Given the description of an element on the screen output the (x, y) to click on. 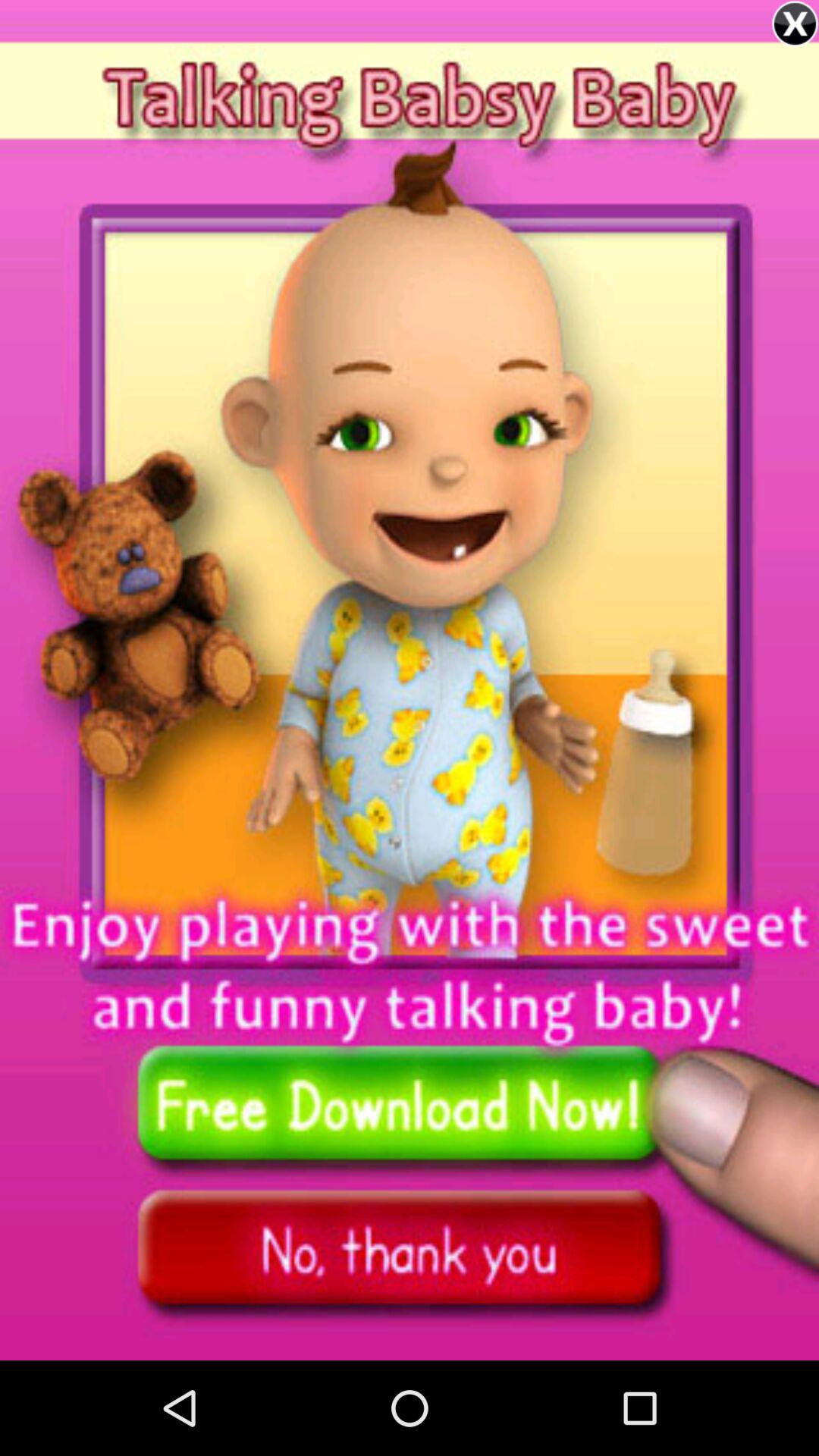
close window (795, 23)
